Given the description of an element on the screen output the (x, y) to click on. 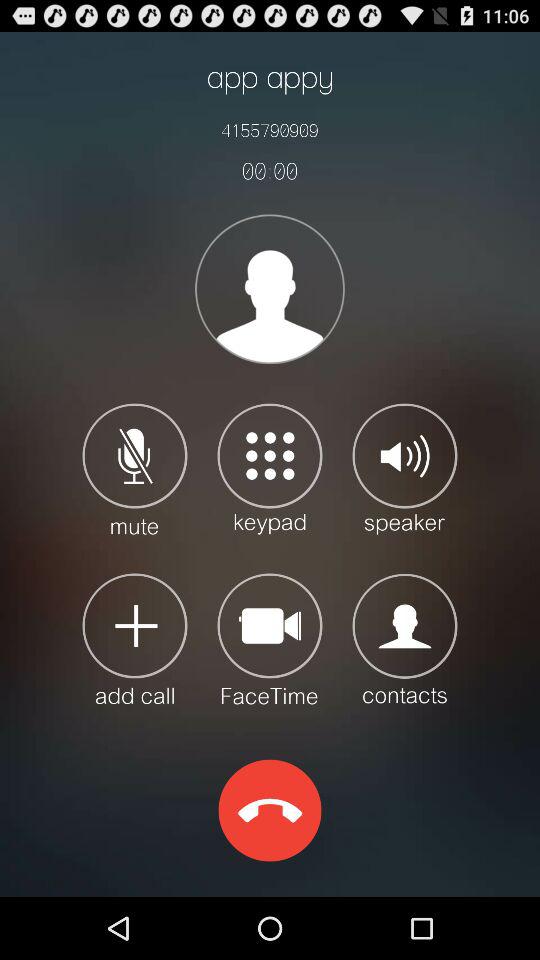
put call on speaker (404, 468)
